Given the description of an element on the screen output the (x, y) to click on. 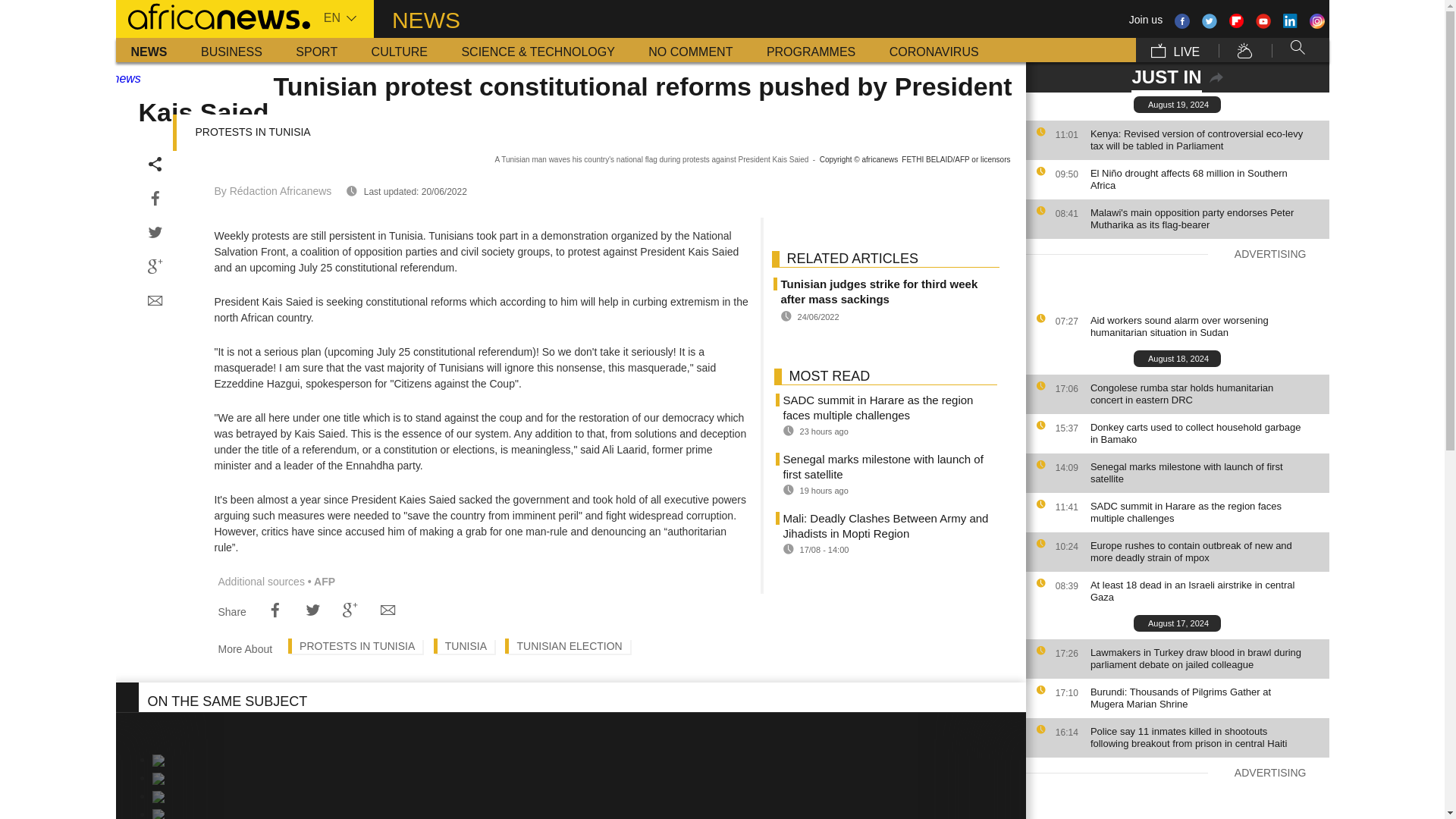
Coronavirus (934, 49)
Business (232, 49)
No Comment (690, 49)
Programmes (810, 49)
News (148, 49)
Culture (399, 49)
PROGRAMMES (810, 49)
